Given the description of an element on the screen output the (x, y) to click on. 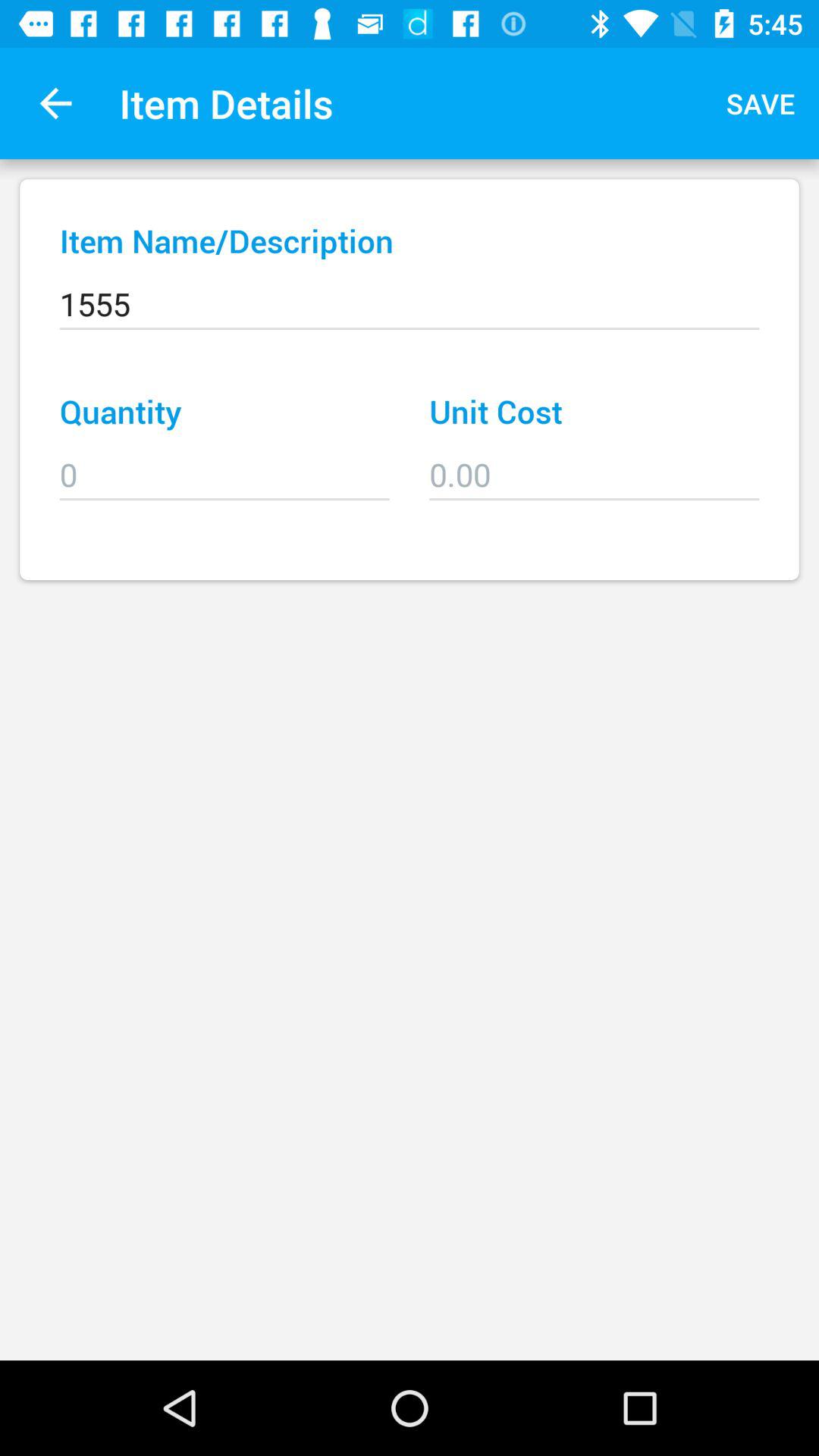
launch icon above item name/description (760, 103)
